Given the description of an element on the screen output the (x, y) to click on. 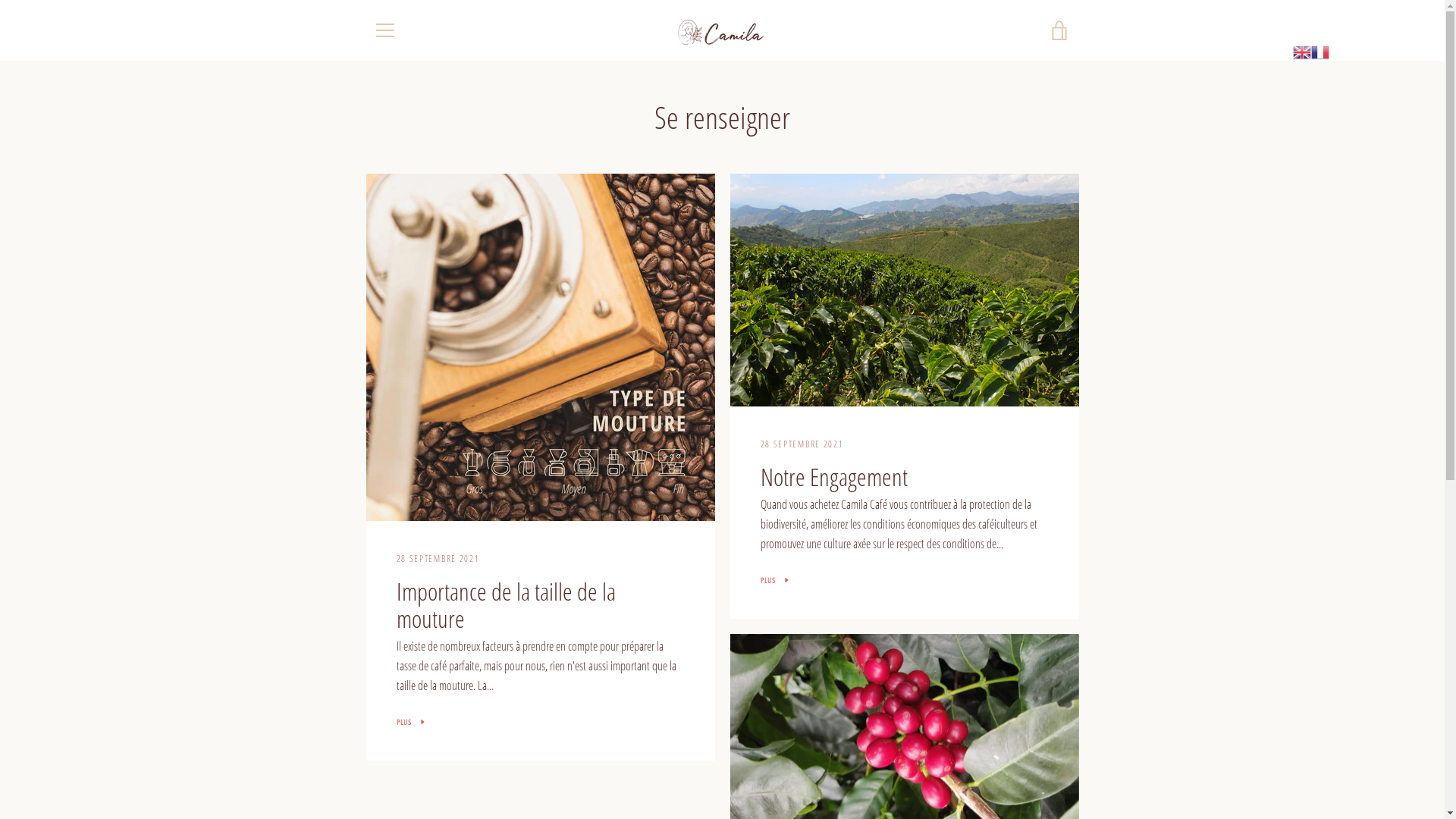
RECHERCHER Element type: text (396, 615)
French Element type: hover (1320, 50)
MENU Element type: text (384, 30)
VOIR LE PANIER Element type: text (1059, 30)
Passer au contenu Element type: text (0, 0)
S'INSCRIRE Element type: text (1039, 685)
English Element type: hover (1301, 50)
